Given the description of an element on the screen output the (x, y) to click on. 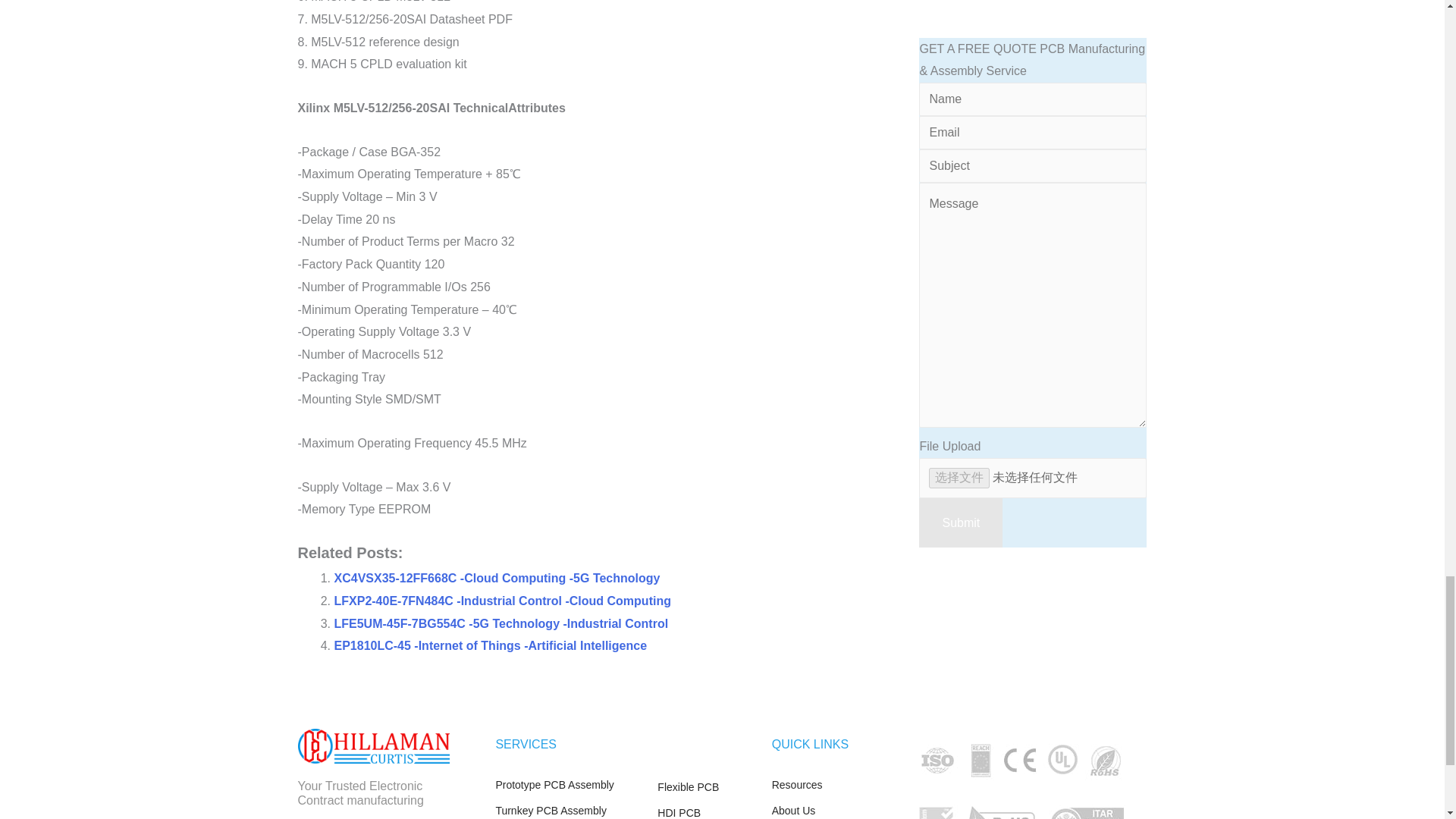
LFXP2-40E-7FN484C -Industrial Control -Cloud Computing (501, 600)
Flexible PCB (706, 787)
LFXP2-40E-7FN484C -Industrial Control -Cloud Computing (501, 600)
EP1810LC-45 -Internet of Things -Artificial Intelligence (489, 645)
LFE5UM-45F-7BG554C -5G Technology -Industrial Control (500, 623)
LFE5UM-45F-7BG554C -5G Technology -Industrial Control (500, 623)
Prototype PCB Assembly (568, 785)
XC4VSX35-12FF668C -Cloud Computing -5G Technology (496, 577)
XC4VSX35-12FF668C -Cloud Computing -5G Technology (496, 577)
EP1810LC-45 -Internet of Things -Artificial Intelligence (489, 645)
Turnkey PCB Assembly (568, 810)
